Given the description of an element on the screen output the (x, y) to click on. 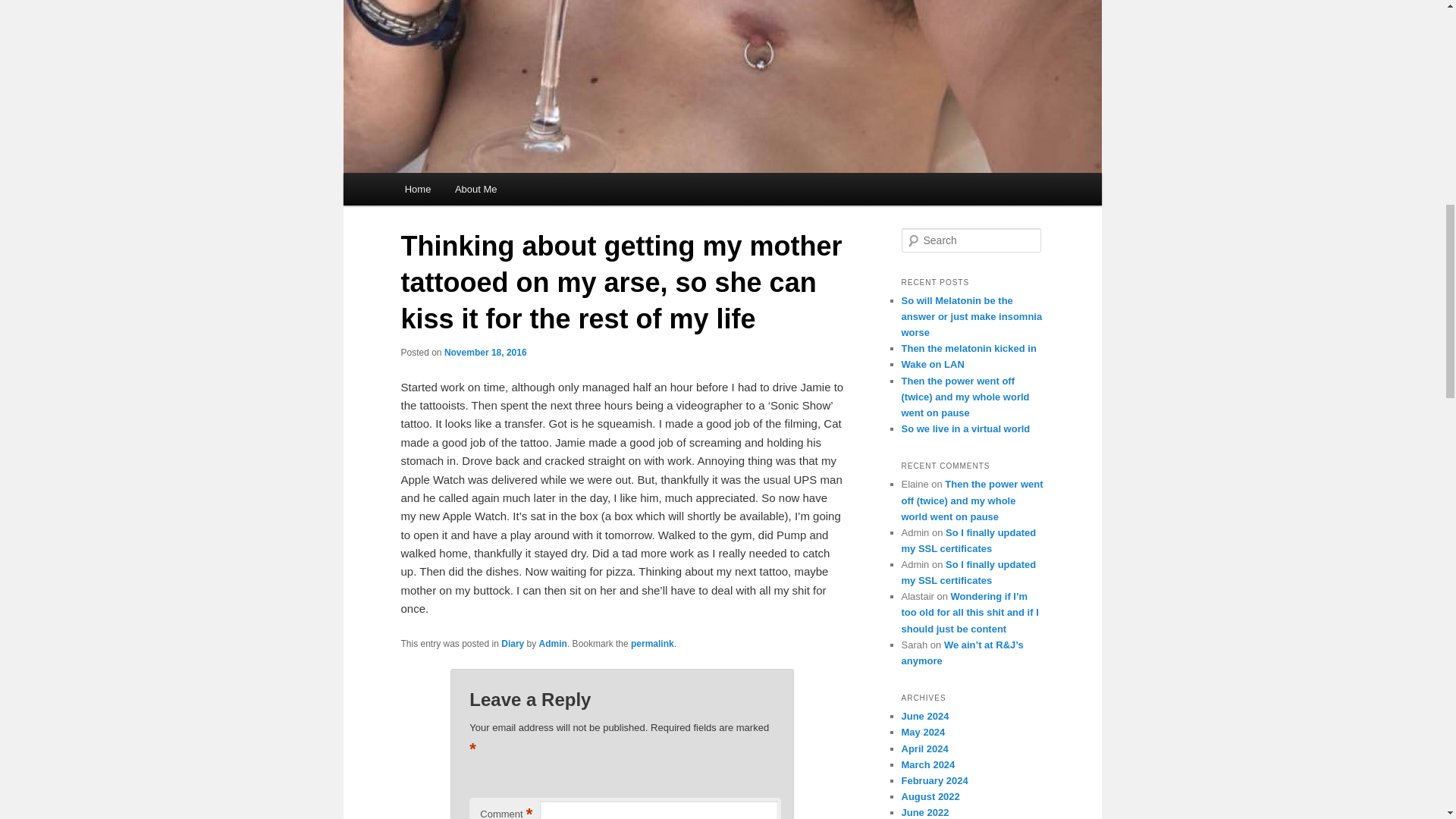
Home (417, 188)
May 2024 (922, 731)
Then the melatonin kicked in (968, 348)
March 2024 (928, 764)
Admin (552, 643)
Diary (512, 643)
permalink (652, 643)
April 2024 (924, 748)
So we live in a virtual world (965, 428)
